Given the description of an element on the screen output the (x, y) to click on. 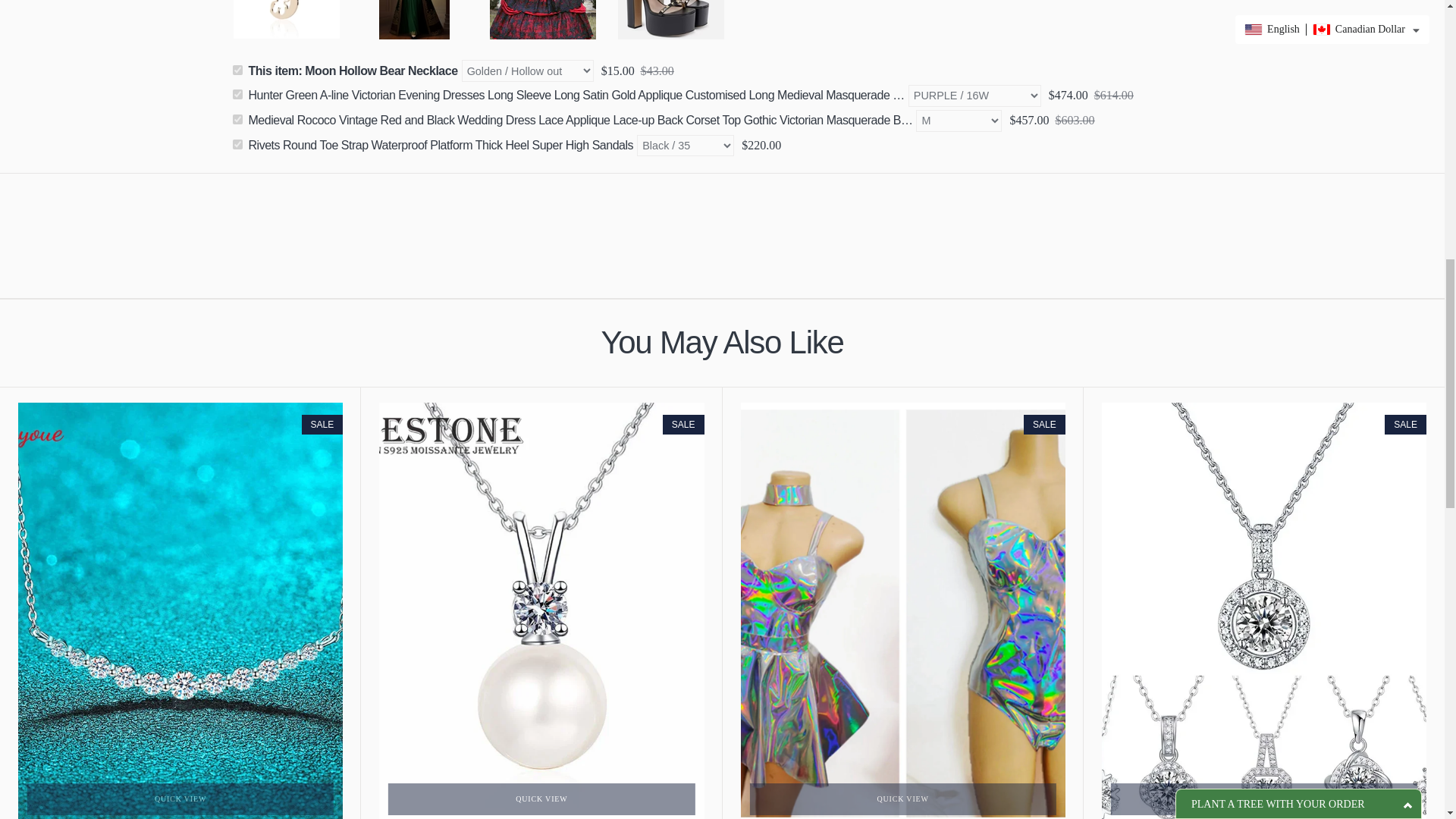
on (236, 144)
on (236, 94)
on (236, 70)
on (236, 119)
